Given the description of an element on the screen output the (x, y) to click on. 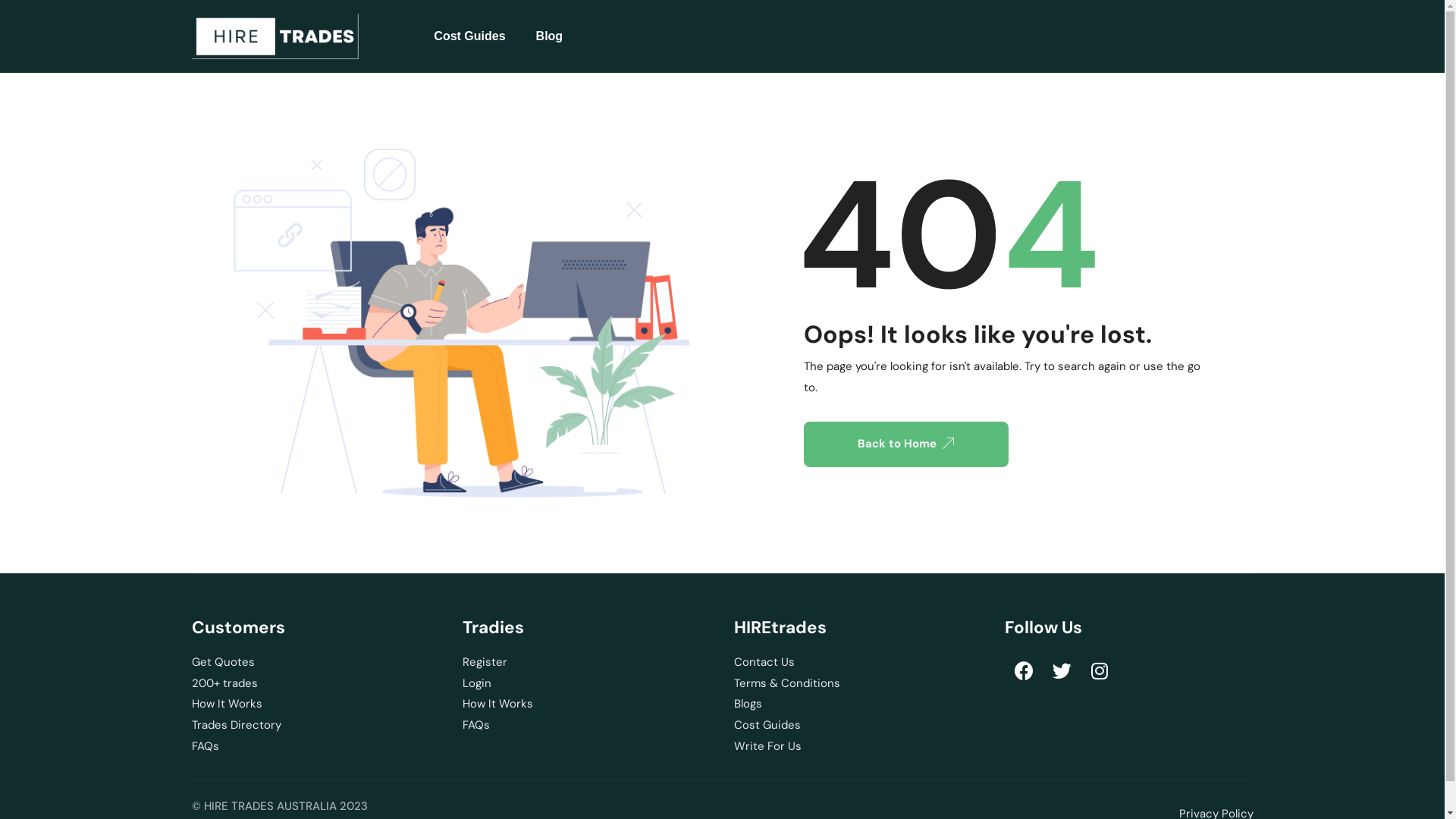
200+ trades Element type: text (315, 683)
Login Element type: text (586, 683)
Write For Us Element type: text (858, 746)
Trades Directory Element type: text (315, 725)
How It Works Element type: text (315, 704)
Get Quotes Element type: text (315, 662)
Blog Element type: text (549, 35)
Terms & Conditions Element type: text (858, 683)
FAQs Element type: text (586, 725)
Register Element type: text (586, 662)
Cost Guides Element type: text (858, 725)
Contact Us Element type: text (858, 662)
Cost Guides Element type: text (469, 35)
FAQs Element type: text (315, 746)
How It Works Element type: text (586, 704)
Blogs Element type: text (858, 704)
Back to Home Element type: text (905, 444)
